Given the description of an element on the screen output the (x, y) to click on. 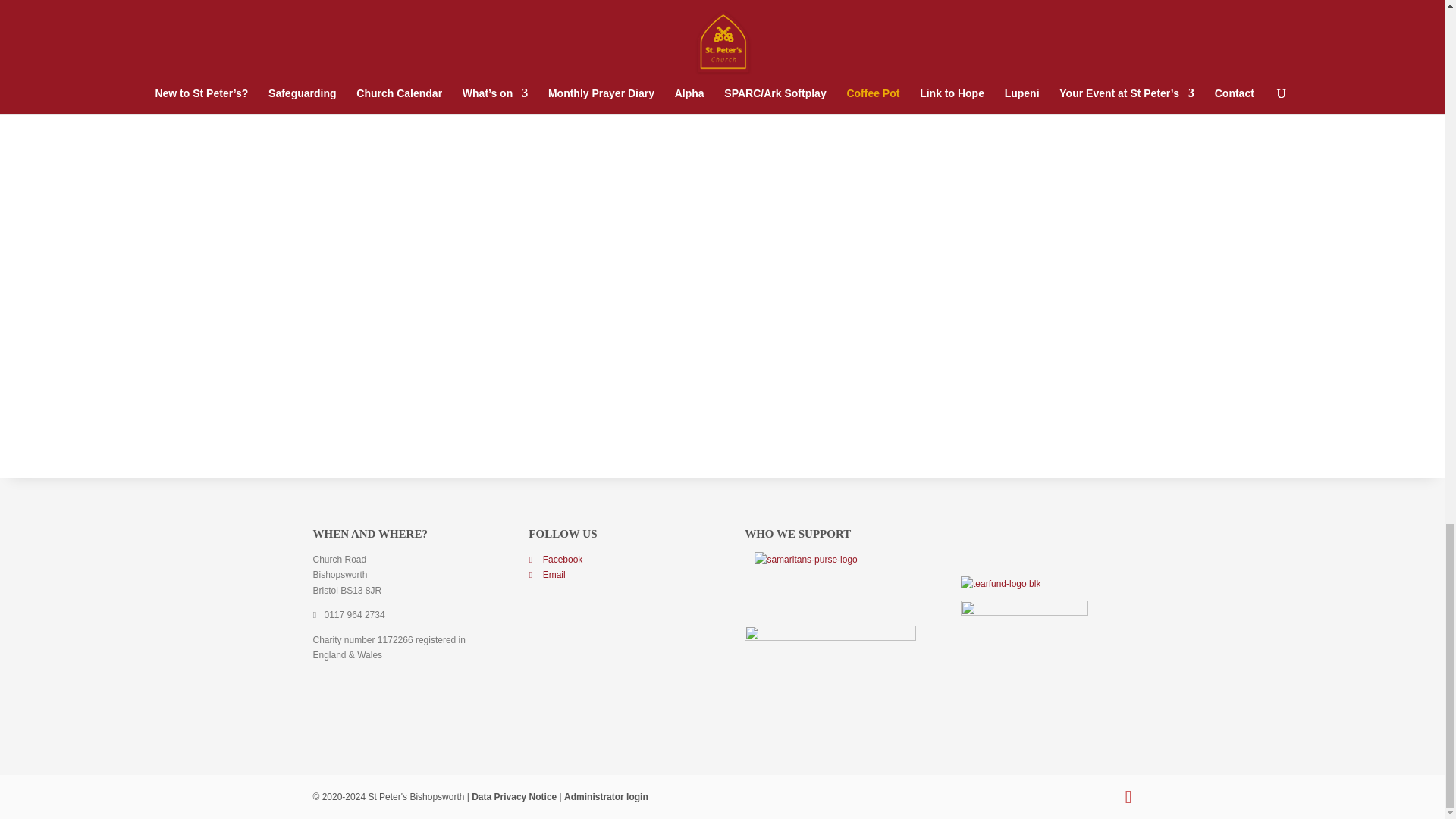
Facebook (555, 559)
Administrator login (605, 796)
Data Privacy Notice (513, 796)
Email (546, 574)
